Given the description of an element on the screen output the (x, y) to click on. 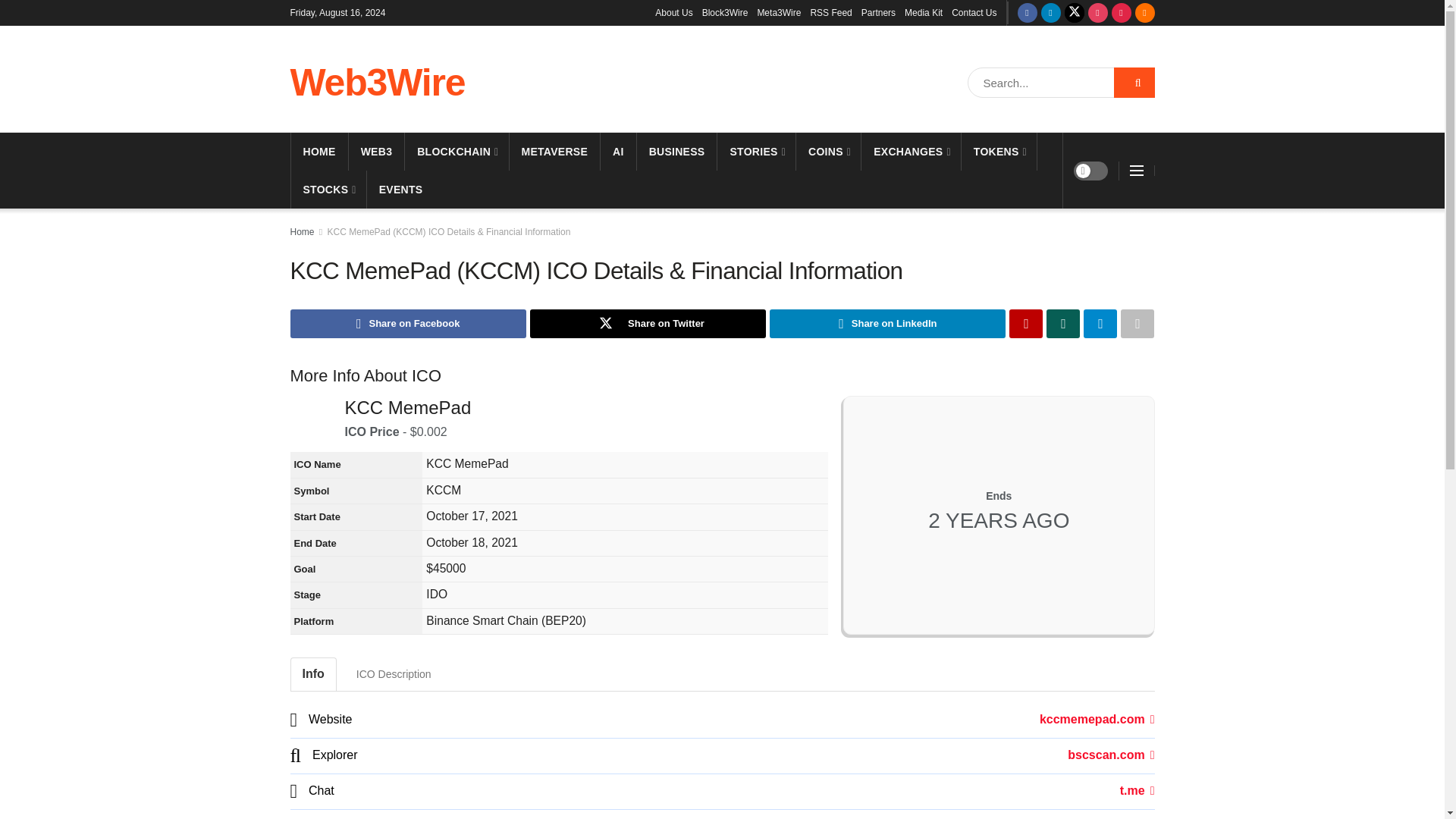
EXCHANGES (910, 151)
BUSINESS (677, 151)
Media Kit (923, 12)
Meta3Wire (778, 12)
About Us (674, 12)
WEB3 (376, 151)
HOME (319, 151)
Block3Wire (724, 12)
BLOCKCHAIN (456, 151)
Explorer (1110, 754)
